Given the description of an element on the screen output the (x, y) to click on. 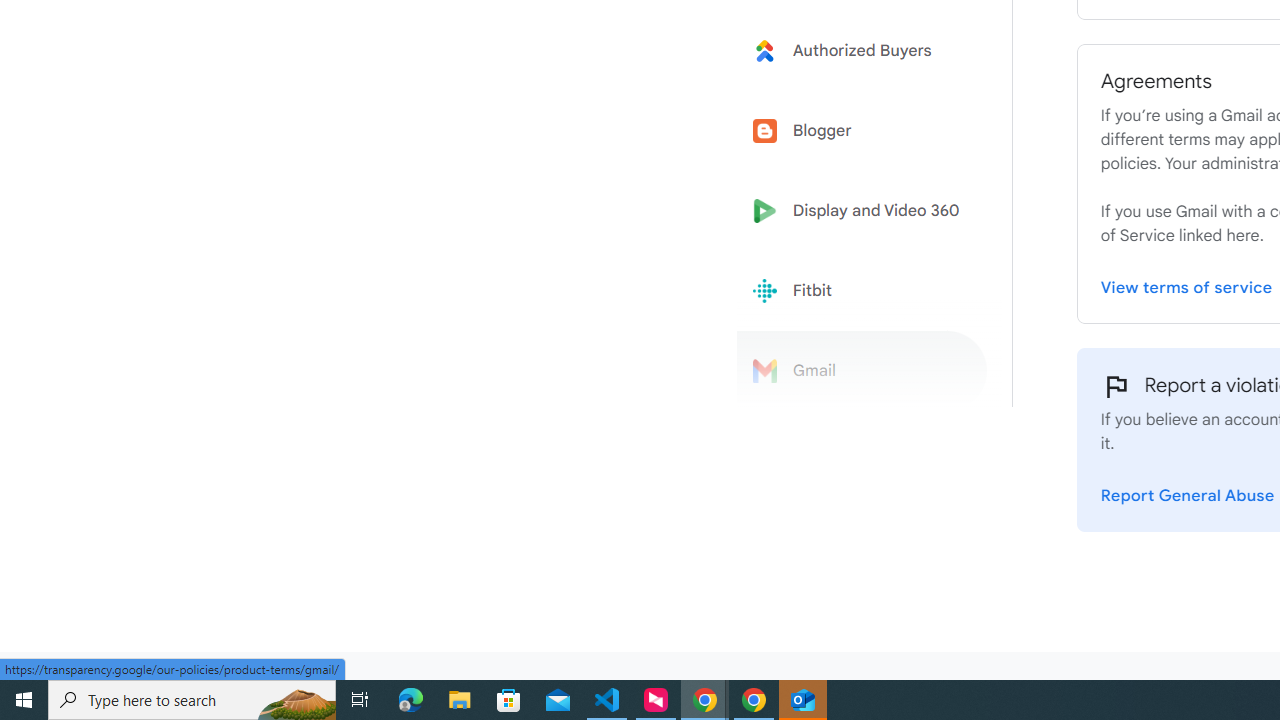
Gmail (862, 371)
Learn more about Authorized Buyers (862, 50)
Display and Video 360 (862, 211)
Gmail (862, 371)
Display and Video 360 (862, 211)
Fitbit (862, 291)
Blogger (862, 130)
Fitbit (862, 291)
Blogger (862, 130)
Learn more about Authorized Buyers (862, 50)
